Given the description of an element on the screen output the (x, y) to click on. 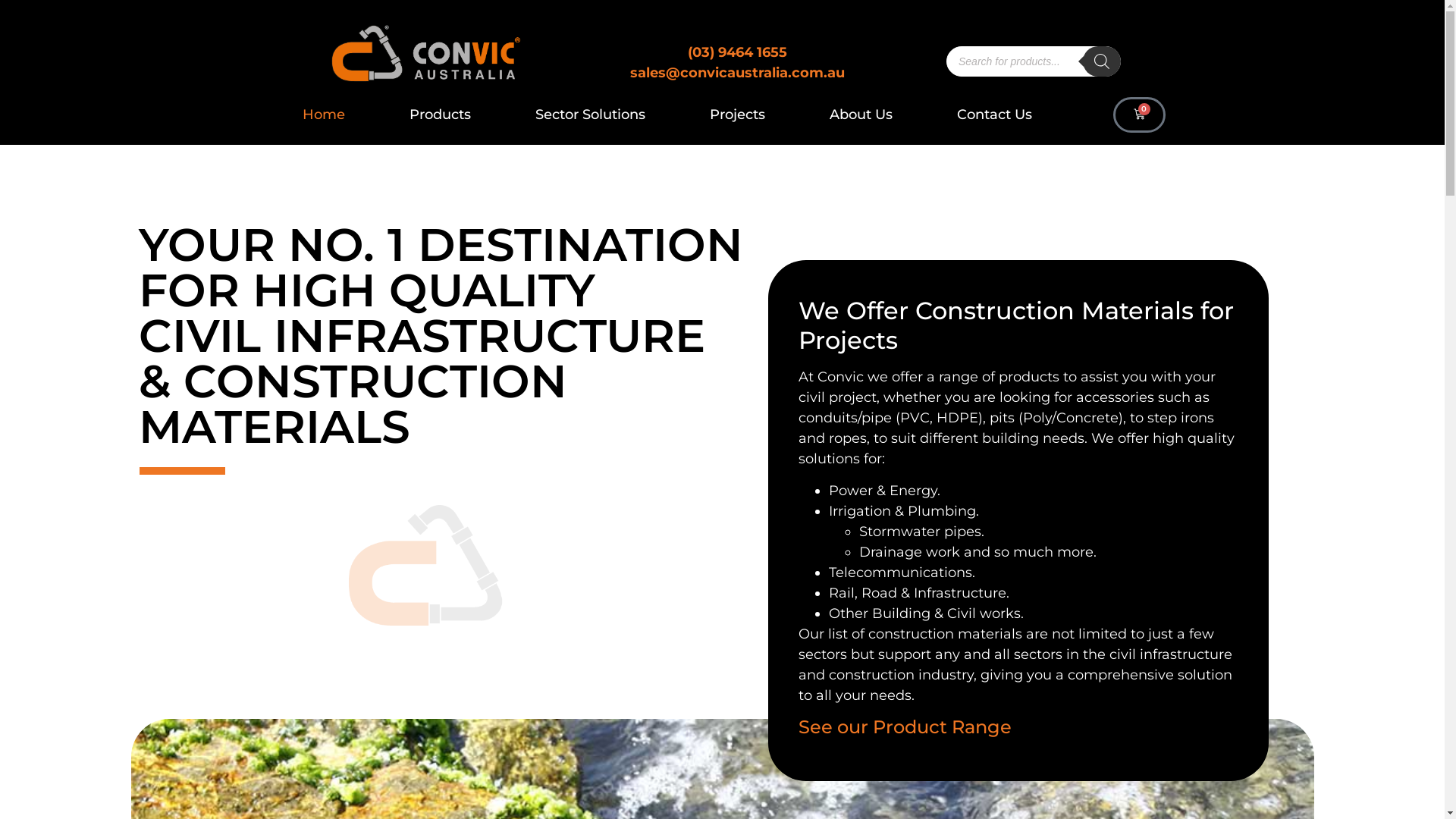
(03) 9464 1655 Element type: text (736, 51)
0 Element type: text (1139, 114)
About Us Element type: text (860, 114)
Products Element type: text (439, 114)
Home Element type: text (323, 114)
Sector Solutions Element type: text (590, 114)
sales@convicaustralia.com.au Element type: text (736, 72)
Contact Us Element type: text (994, 114)
Projects Element type: text (737, 114)
See our Product Range Element type: text (903, 726)
